Given the description of an element on the screen output the (x, y) to click on. 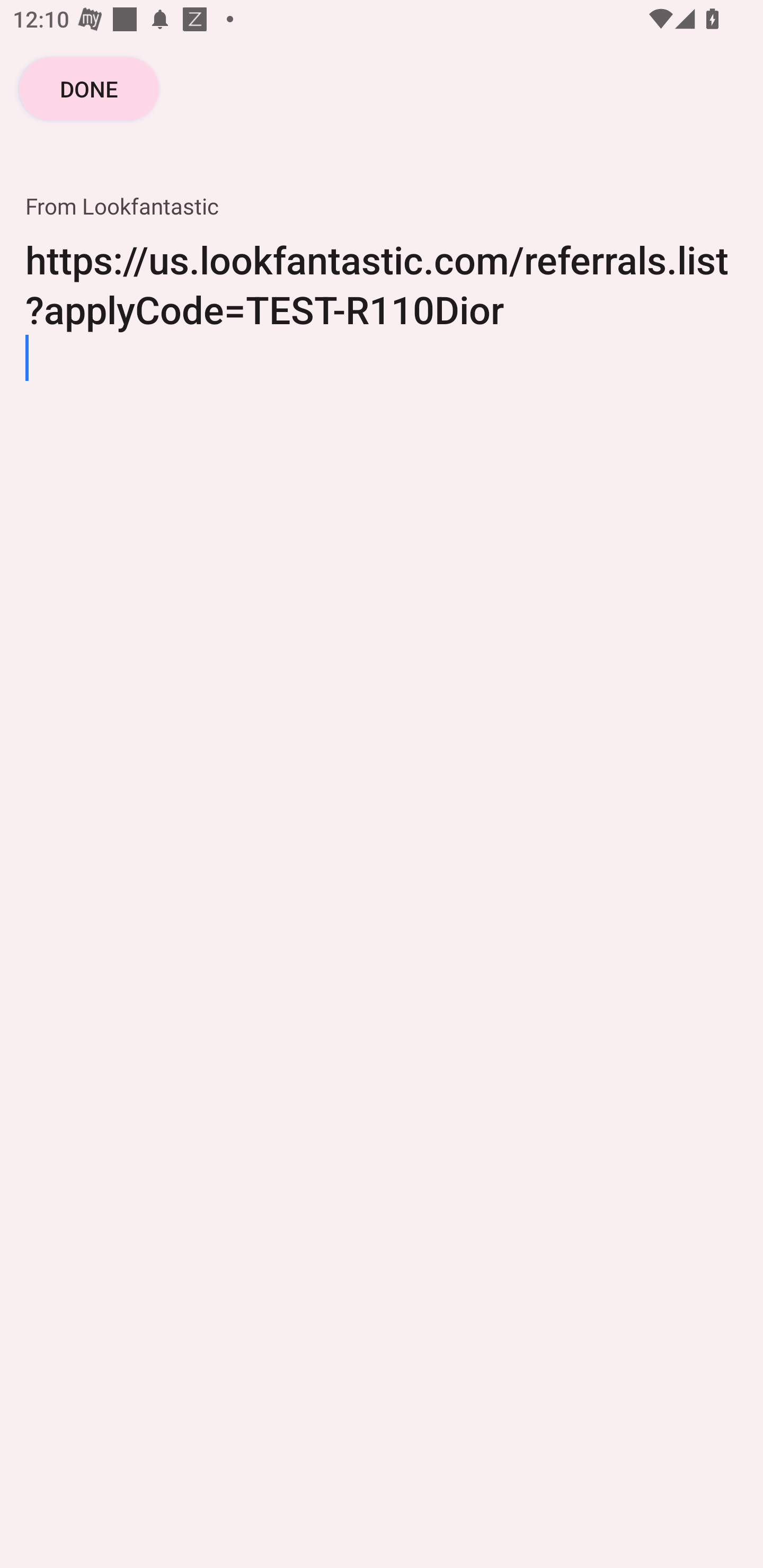
DONE (88, 88)
